Given the description of an element on the screen output the (x, y) to click on. 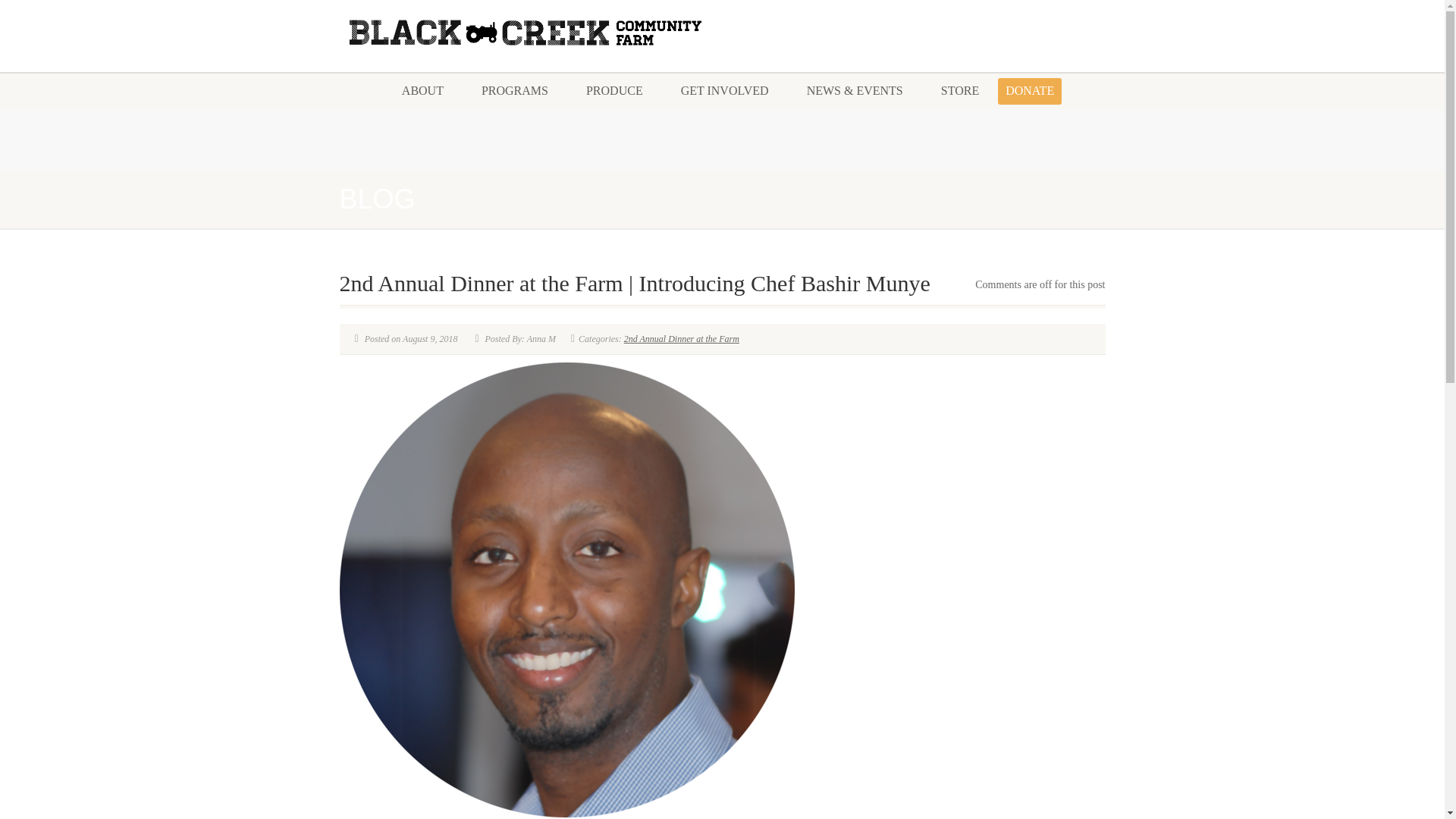
Black Creek Community Farm Logo (525, 32)
PROGRAMS (515, 90)
PRODUCE (614, 90)
ABOUT (422, 90)
GET INVOLVED (724, 90)
